Given the description of an element on the screen output the (x, y) to click on. 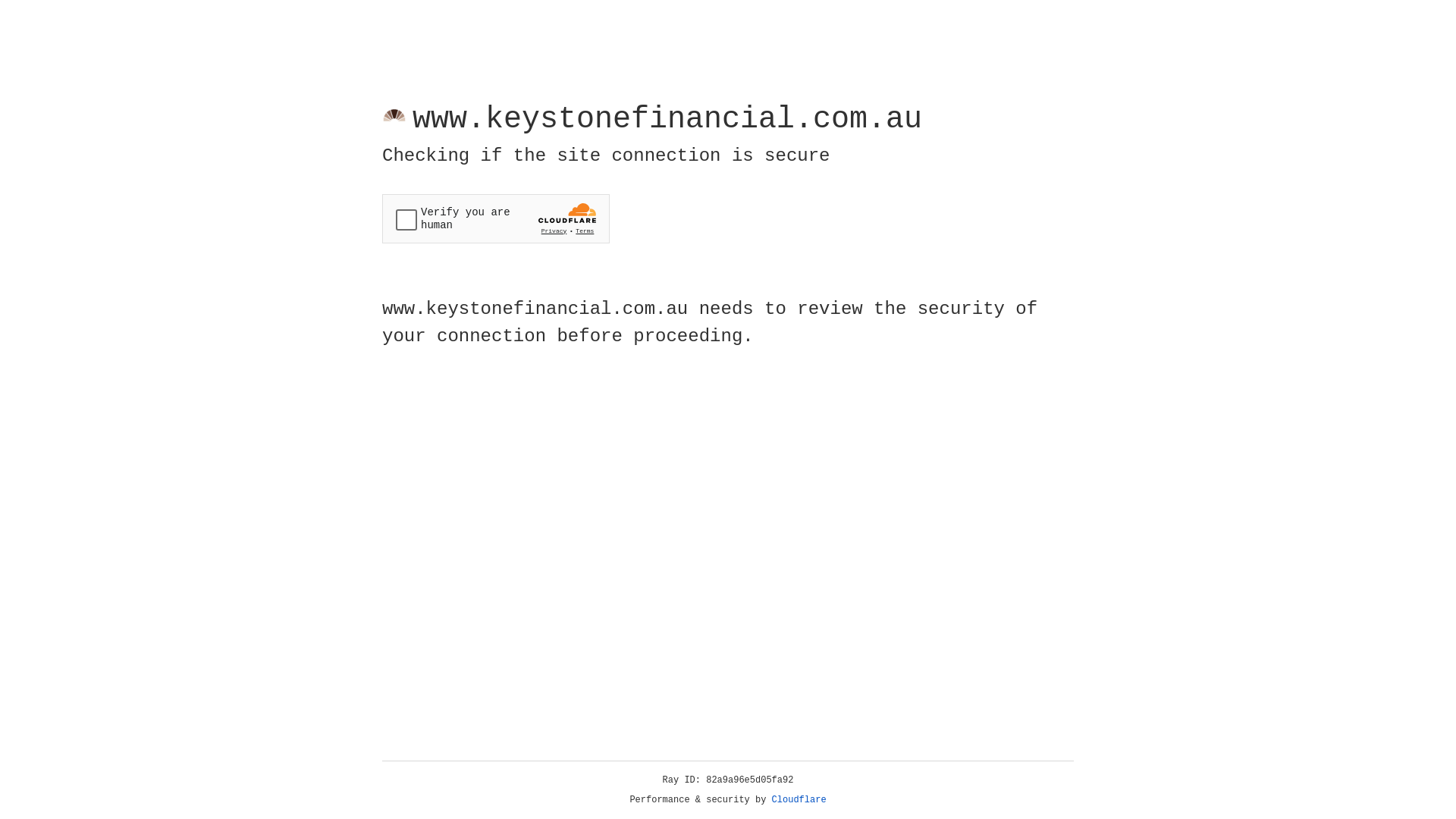
Cloudflare Element type: text (798, 799)
Widget containing a Cloudflare security challenge Element type: hover (495, 218)
